Given the description of an element on the screen output the (x, y) to click on. 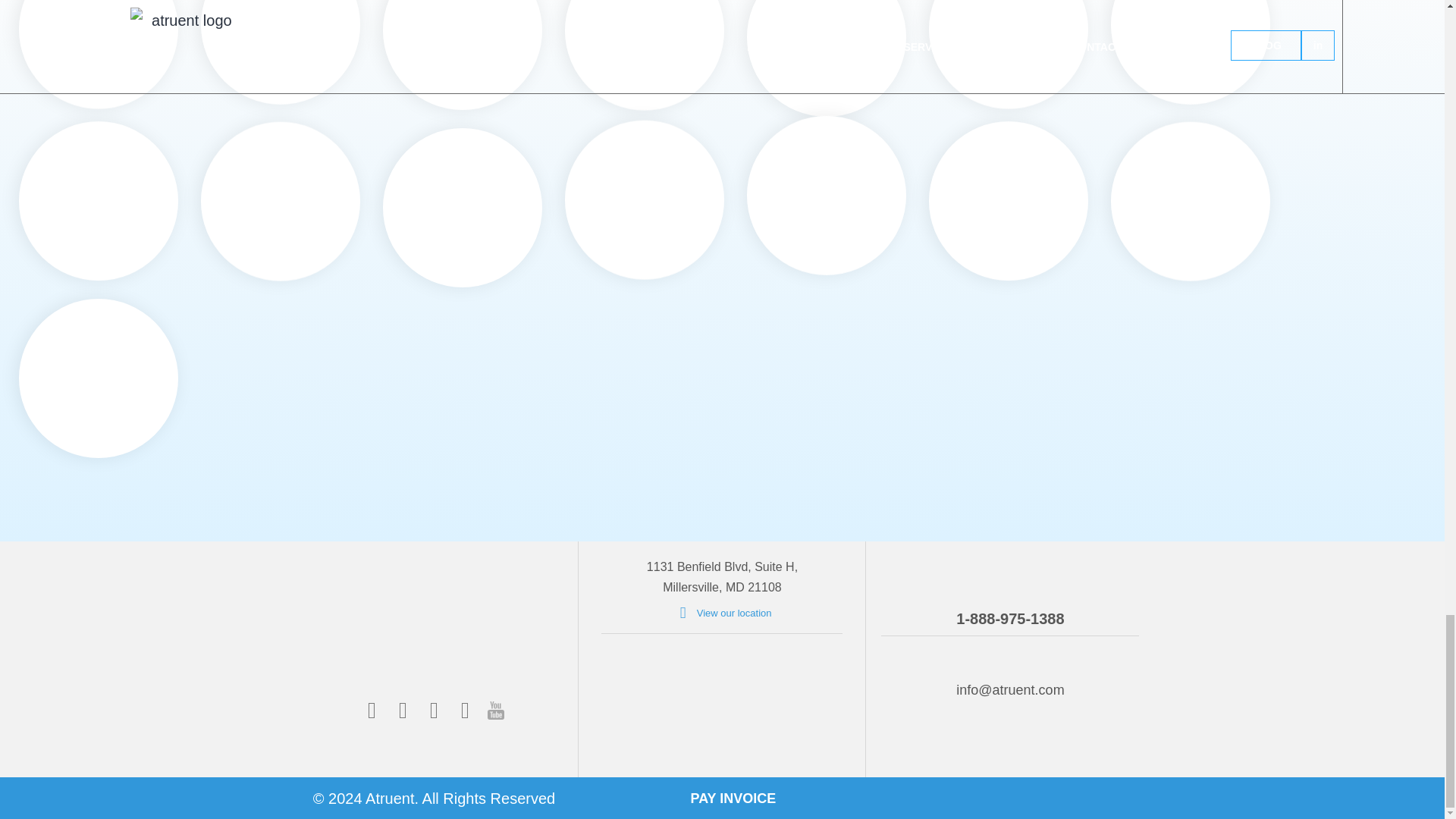
cellphone - Atruent (1010, 573)
atruent logo - Atruent (434, 638)
soc - Atruent (661, 700)
mail - Atruent (1009, 660)
Copy of SOC Compliant Badge - Insight Assurance 46 - Atruent (781, 700)
